Given the description of an element on the screen output the (x, y) to click on. 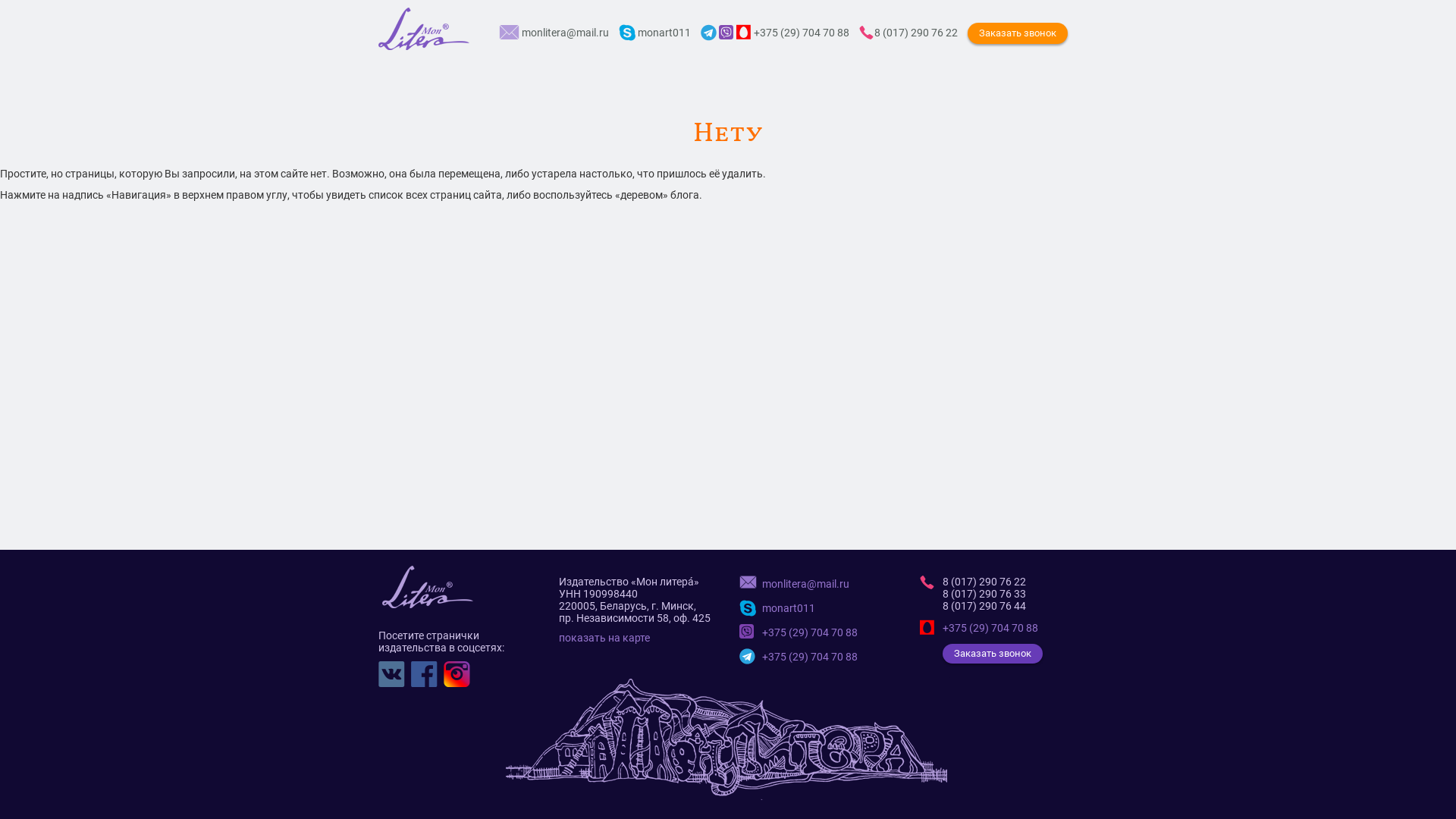
+375 (29) 704 70 88 Element type: text (798, 632)
monlitera@mail.ru Element type: text (794, 583)
+375 (29) 704 70 88 Element type: text (978, 627)
monart011 Element type: text (777, 607)
+375 (29) 704 70 88 Element type: text (798, 656)
